Given the description of an element on the screen output the (x, y) to click on. 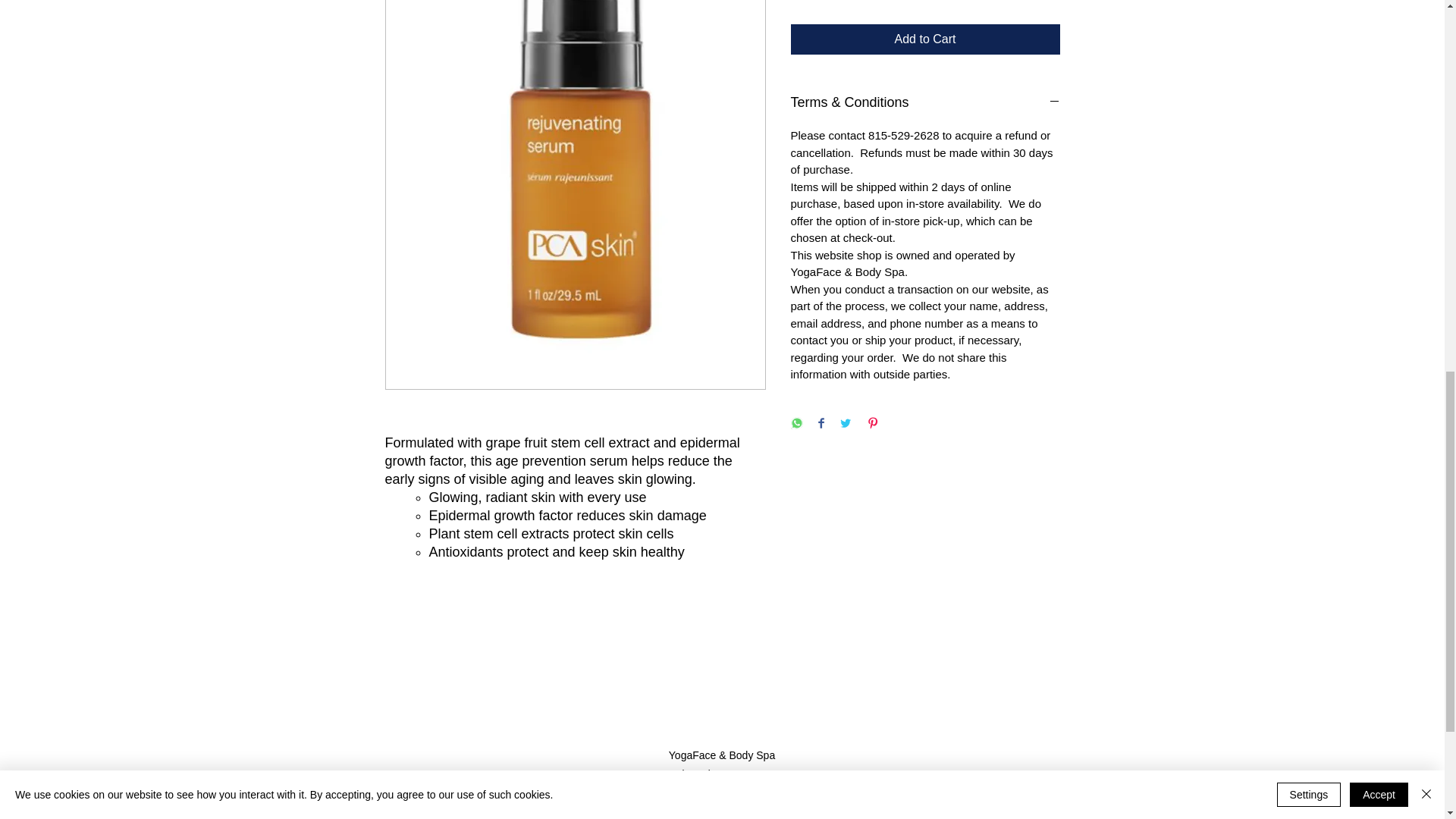
Add to Cart (924, 39)
